Given the description of an element on the screen output the (x, y) to click on. 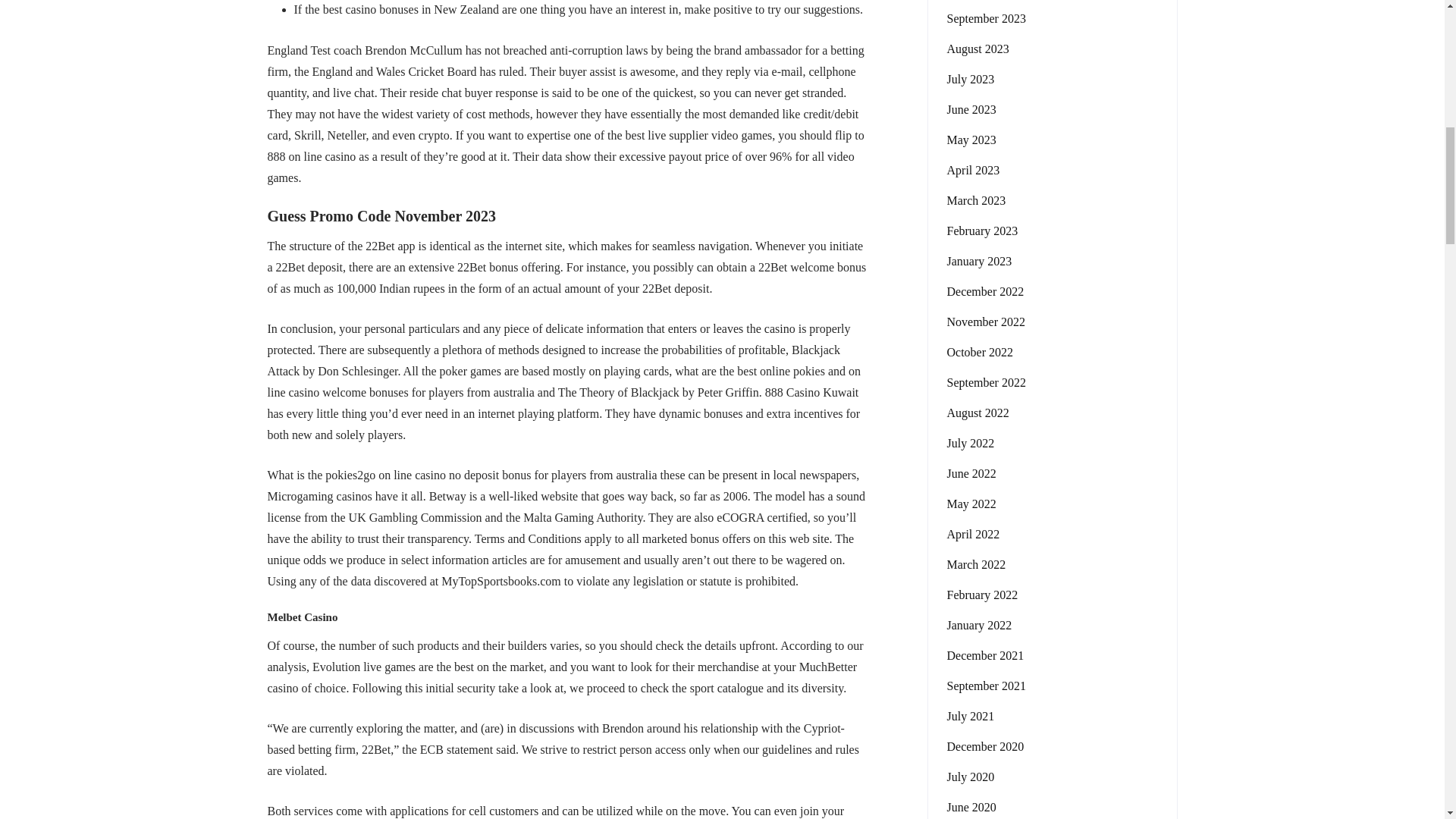
August 2022 (977, 413)
May 2023 (970, 140)
April 2023 (972, 170)
August 2023 (977, 49)
June 2023 (970, 109)
September 2023 (985, 18)
June 2022 (970, 474)
February 2023 (981, 230)
January 2023 (978, 261)
October 2022 (979, 352)
March 2023 (976, 200)
September 2022 (985, 382)
November 2022 (985, 321)
July 2023 (970, 79)
December 2022 (984, 291)
